Given the description of an element on the screen output the (x, y) to click on. 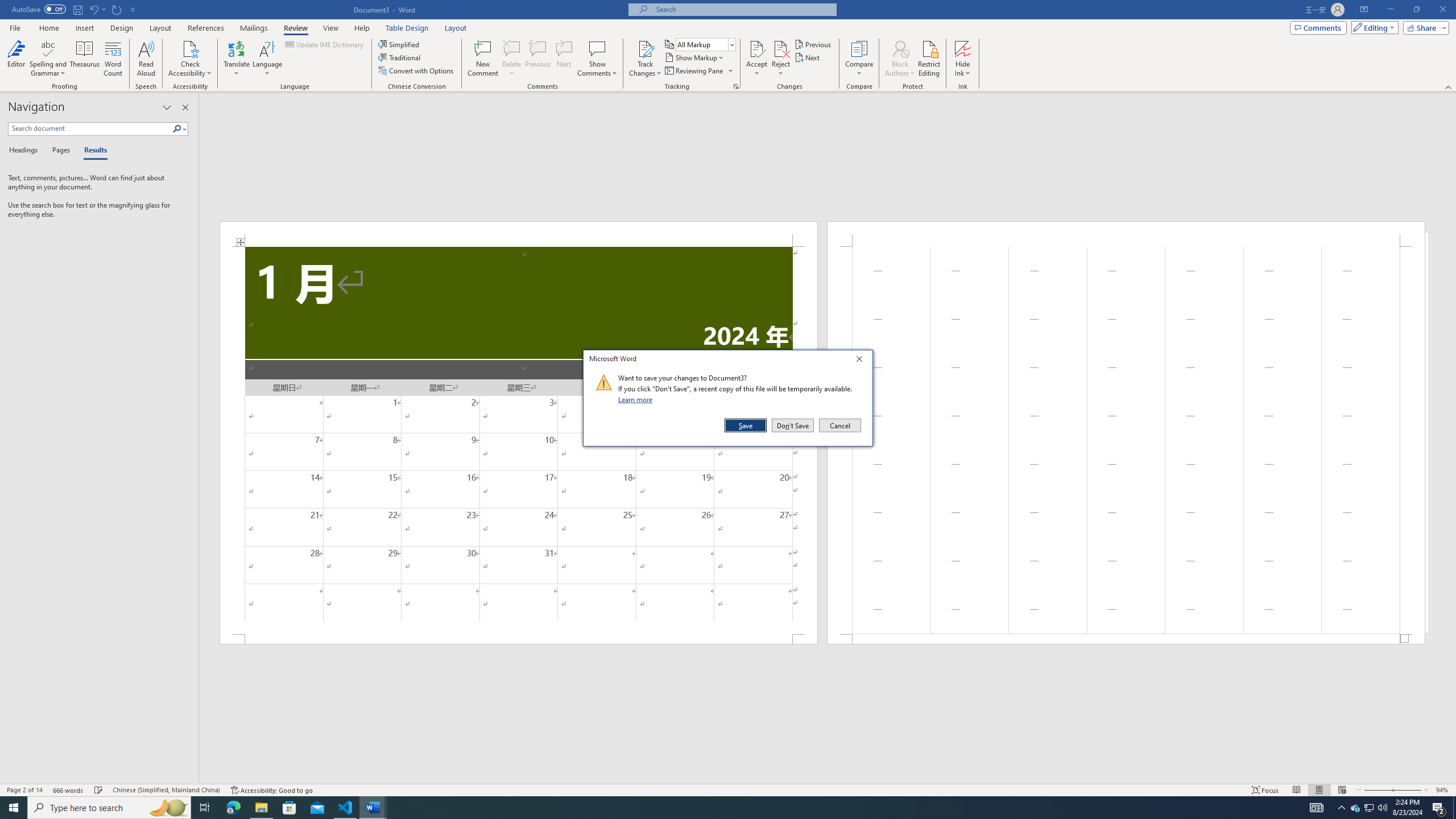
New Comment (482, 58)
Visual Studio Code - 1 running window (345, 807)
Cancel (839, 425)
Task View (204, 807)
Track Changes (644, 58)
Q2790: 100% (1382, 807)
Type here to search (108, 807)
Change Tracking Options... (735, 85)
Show desktop (1454, 807)
